Given the description of an element on the screen output the (x, y) to click on. 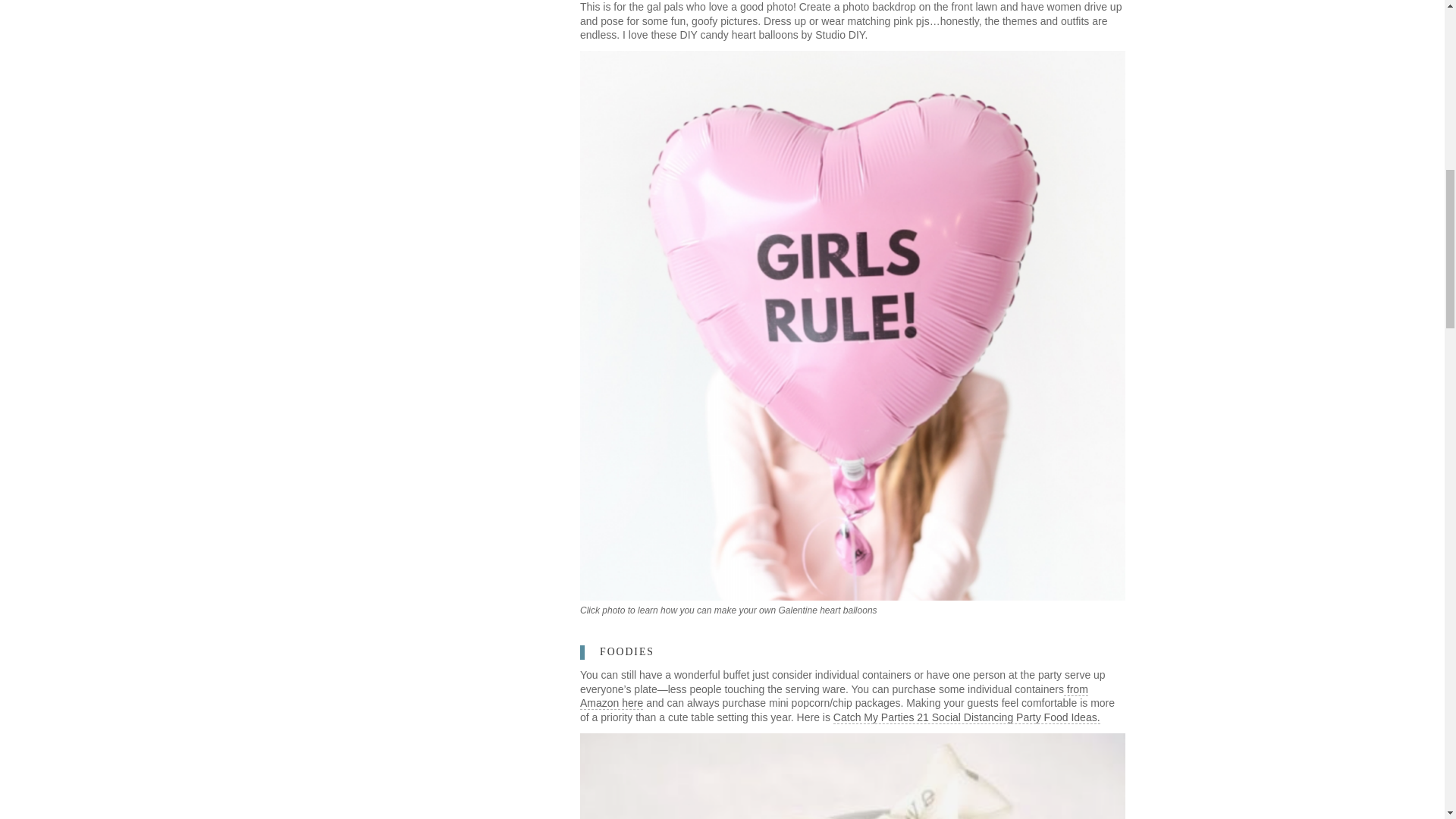
Catch My Parties 21 Social Distancing Party Food Ideas. (966, 717)
from Amazon here (833, 696)
